Given the description of an element on the screen output the (x, y) to click on. 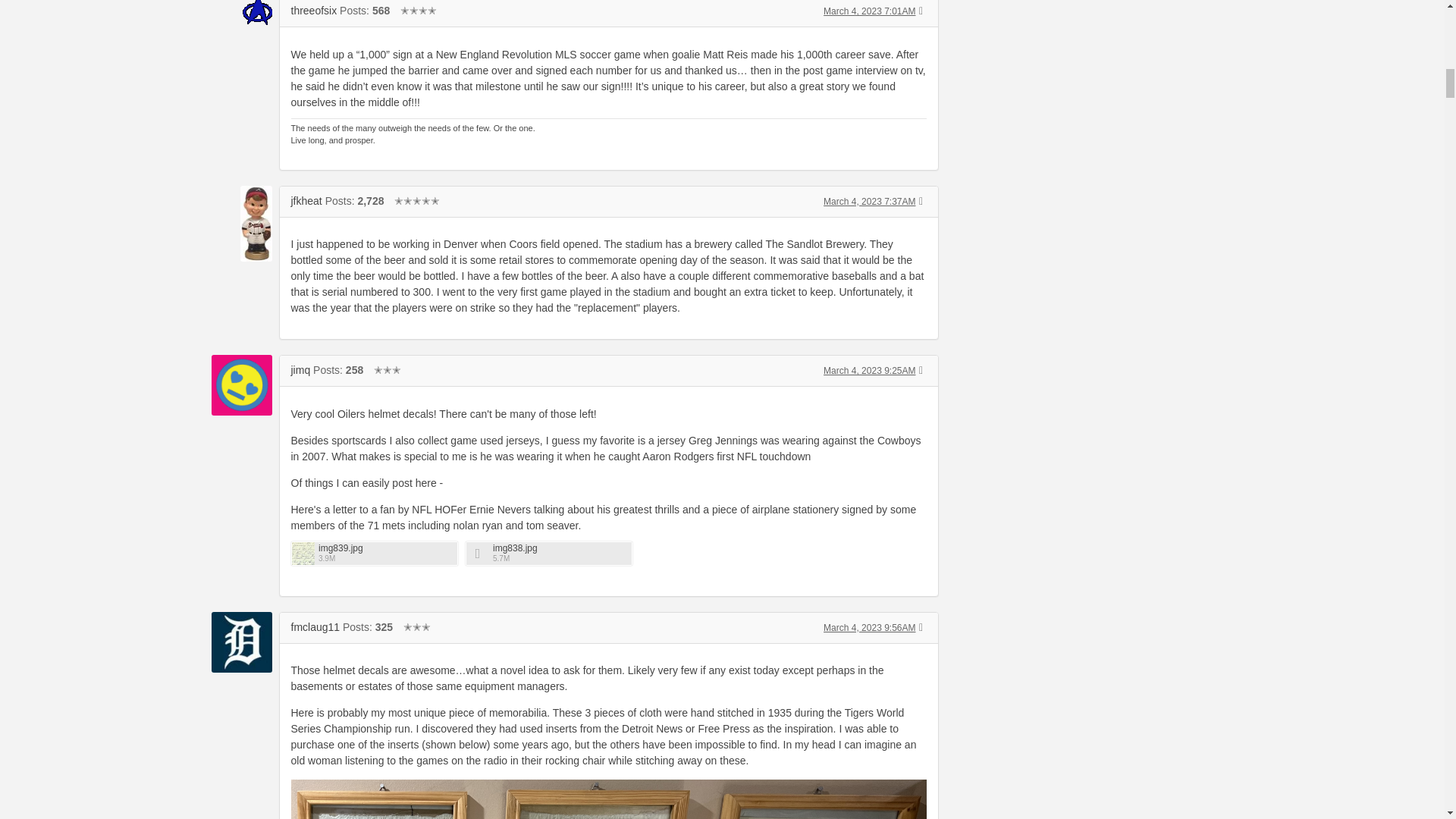
March 4, 2023 7:01AM (869, 10)
March 4, 2023 7:37AM (869, 201)
jimq (301, 369)
img839.jpg (385, 548)
threeofsix (314, 10)
March 4, 2023 9:25AM (869, 370)
jfkheat (306, 200)
